Given the description of an element on the screen output the (x, y) to click on. 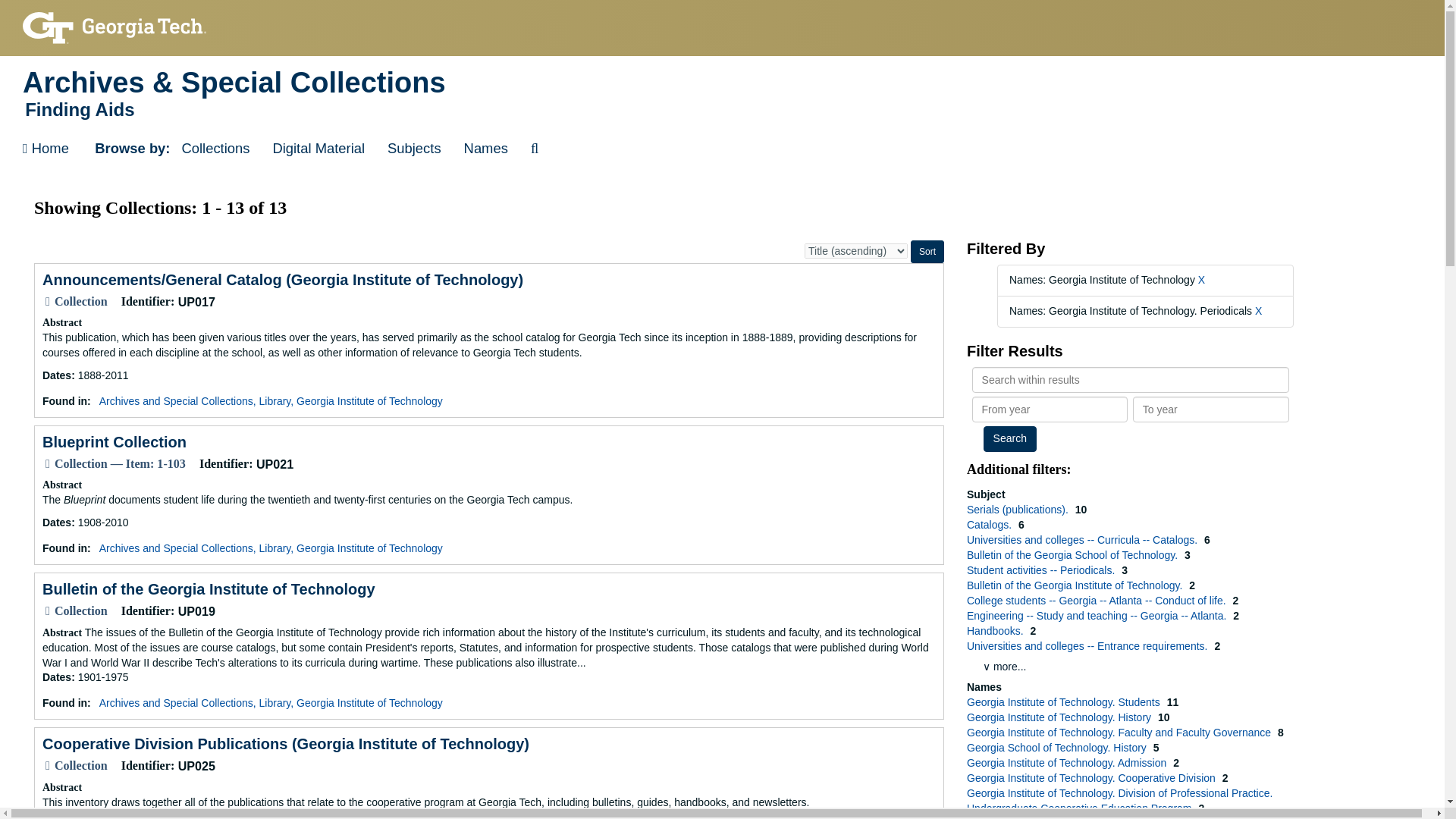
Search (1010, 438)
Subjects (413, 148)
Collections (215, 148)
translation missing: en.dates (56, 375)
Sort (927, 251)
Digital Material (317, 148)
Sort (927, 251)
translation missing: en.dates (56, 522)
Finding Aids (721, 109)
Names (485, 148)
Home (45, 148)
Bulletin of the Georgia Institute of Technology (208, 588)
